Given the description of an element on the screen output the (x, y) to click on. 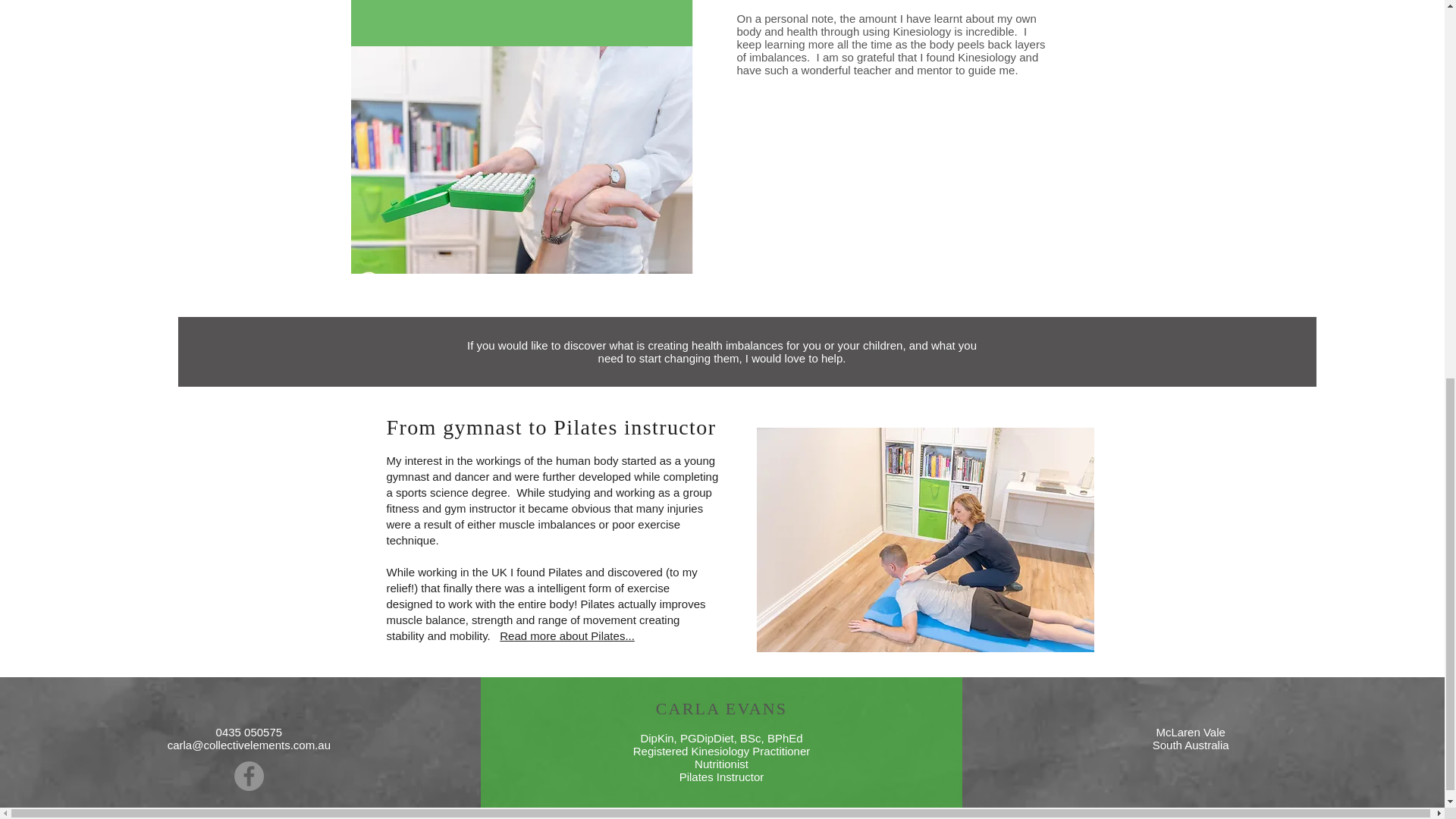
Registered Kinesiology Practitioner (721, 750)
McLaren Vale (1190, 731)
Read more about Pilates... (566, 635)
